Given the description of an element on the screen output the (x, y) to click on. 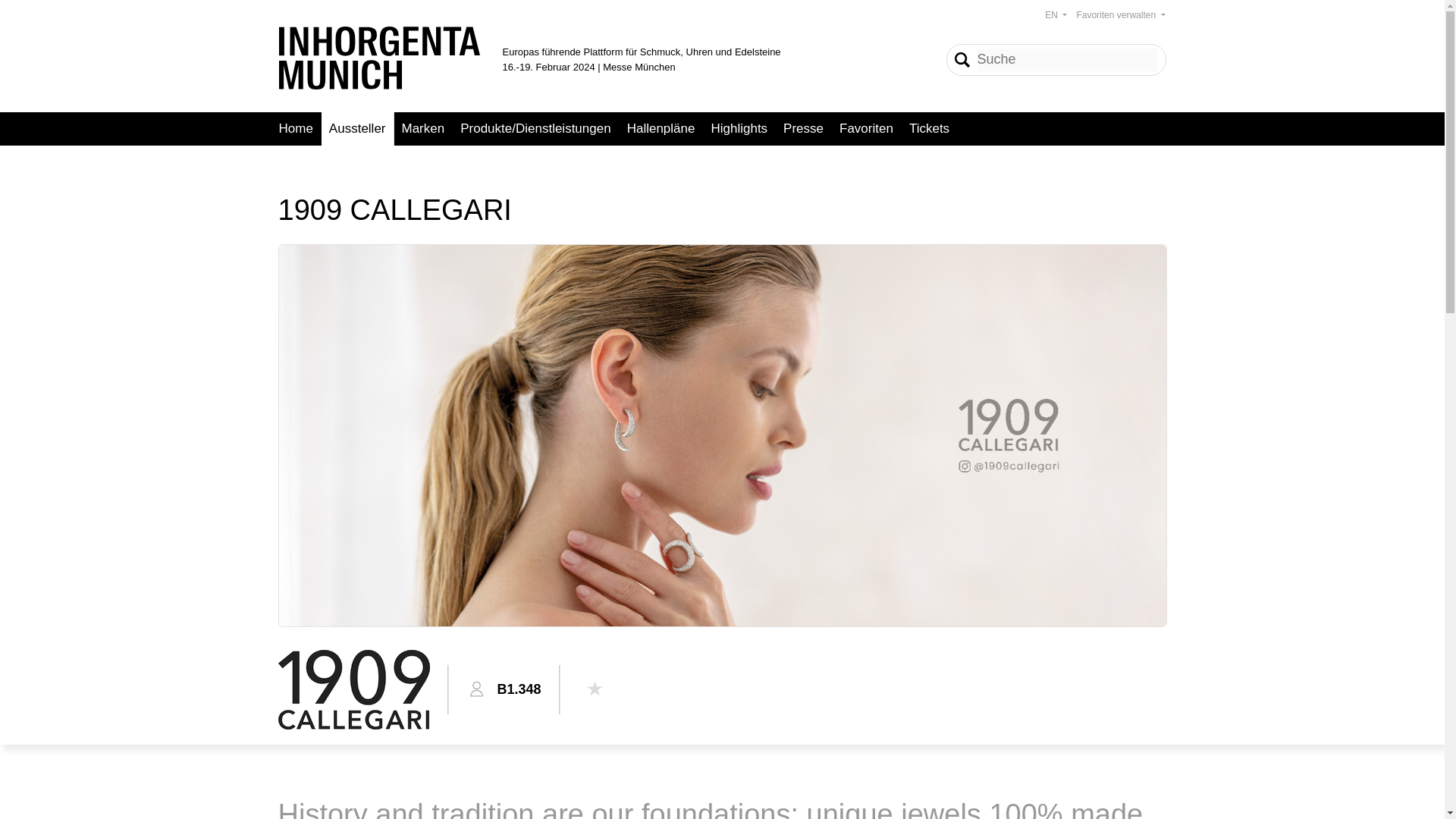
Highlights (739, 128)
1909 CALLEGARI (353, 689)
Home (295, 128)
Favoriten (866, 128)
Presse (803, 128)
Marken (423, 128)
INHORGENTA MUNICH (379, 57)
Marken (423, 128)
Tickets (929, 128)
Home (295, 128)
EN (1055, 14)
Suchbegriff hier eingeben (1066, 59)
Aussteller (357, 128)
Tickets (929, 128)
B1.348 (519, 688)
